Given the description of an element on the screen output the (x, y) to click on. 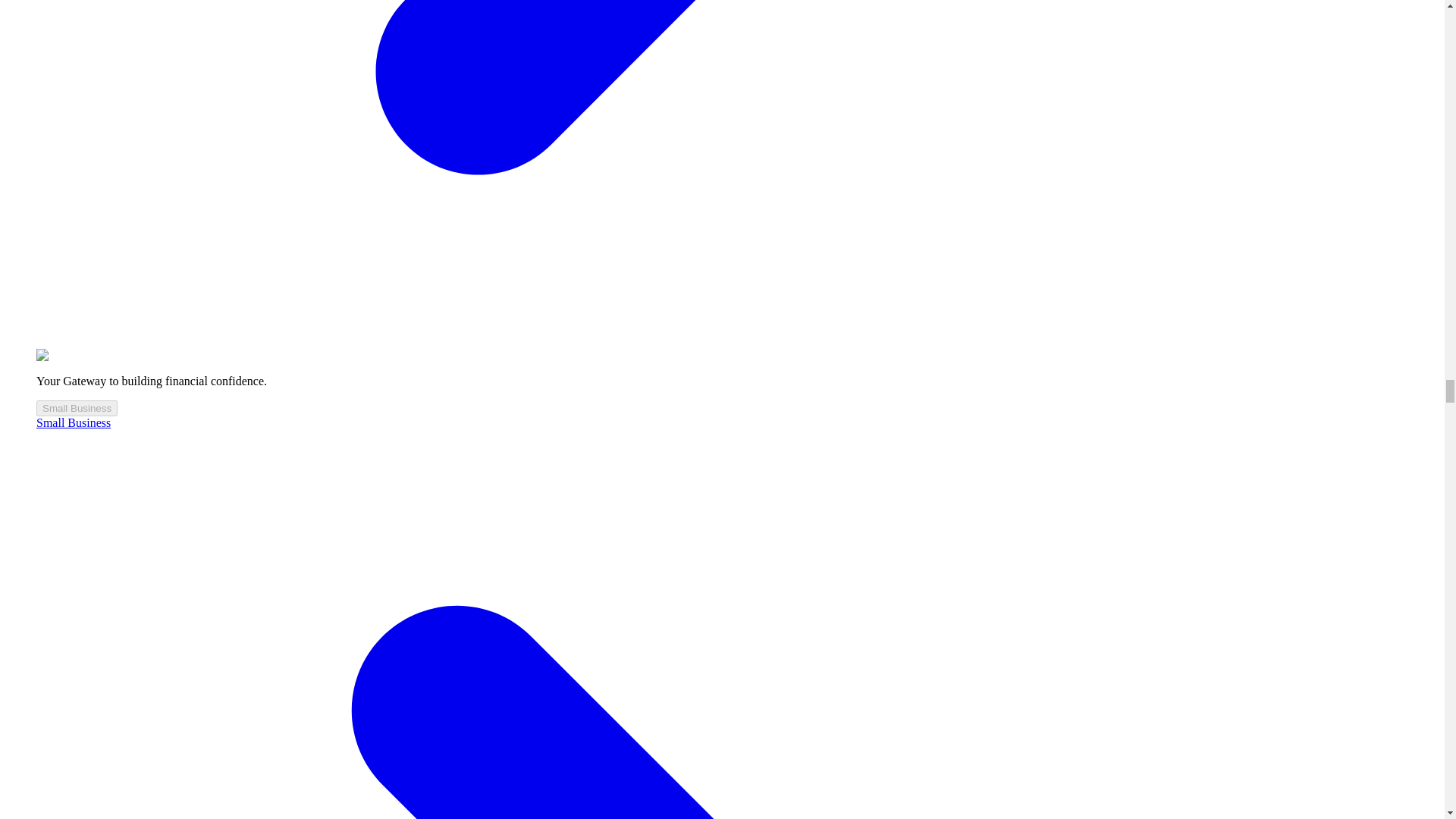
Small Business (76, 408)
